Given the description of an element on the screen output the (x, y) to click on. 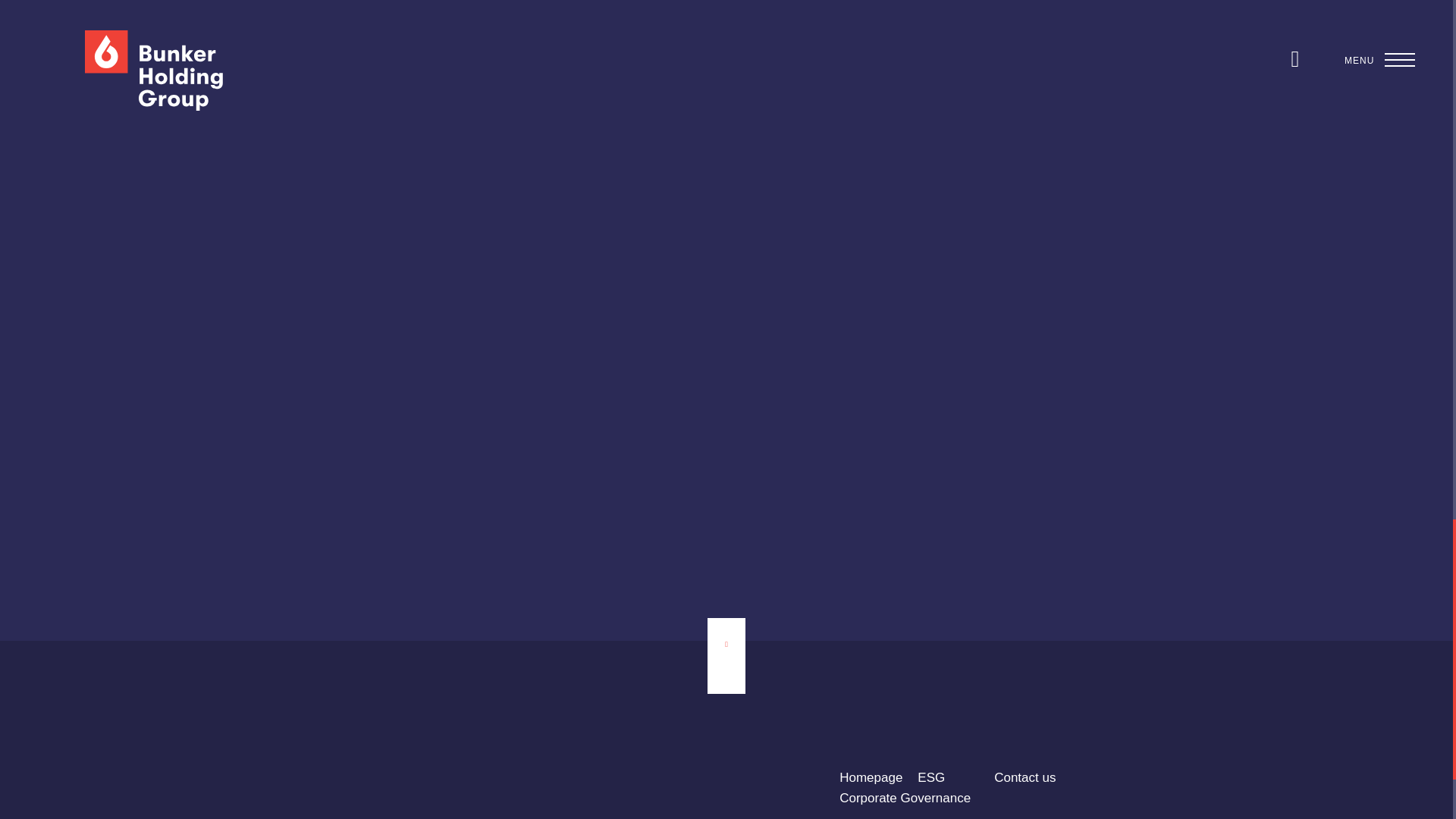
ESG (930, 777)
Homepage (871, 777)
Corporate Governance (905, 798)
Contact us (1024, 777)
